Given the description of an element on the screen output the (x, y) to click on. 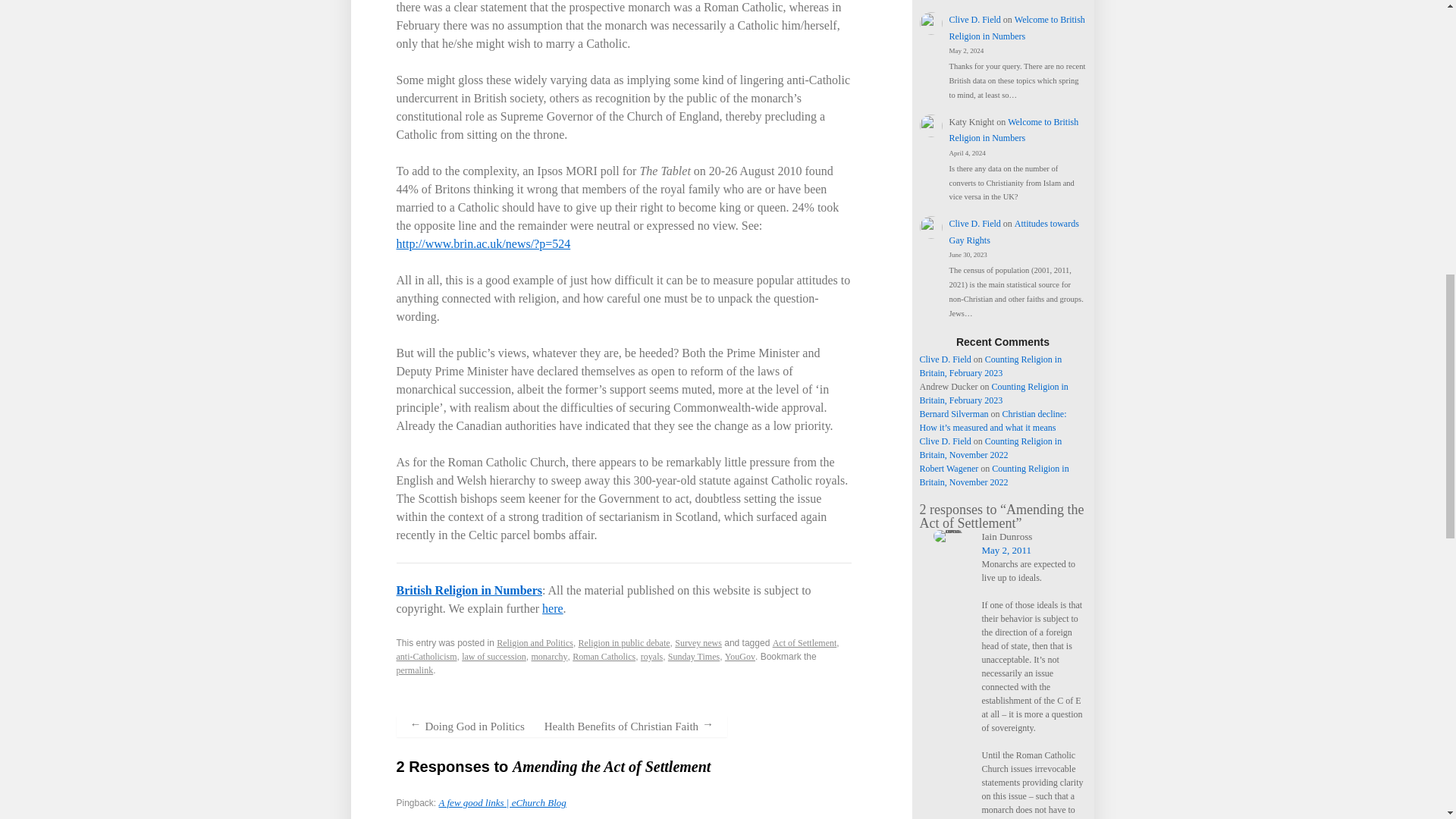
Permalink to Amending the Act of Settlement (414, 670)
